Given the description of an element on the screen output the (x, y) to click on. 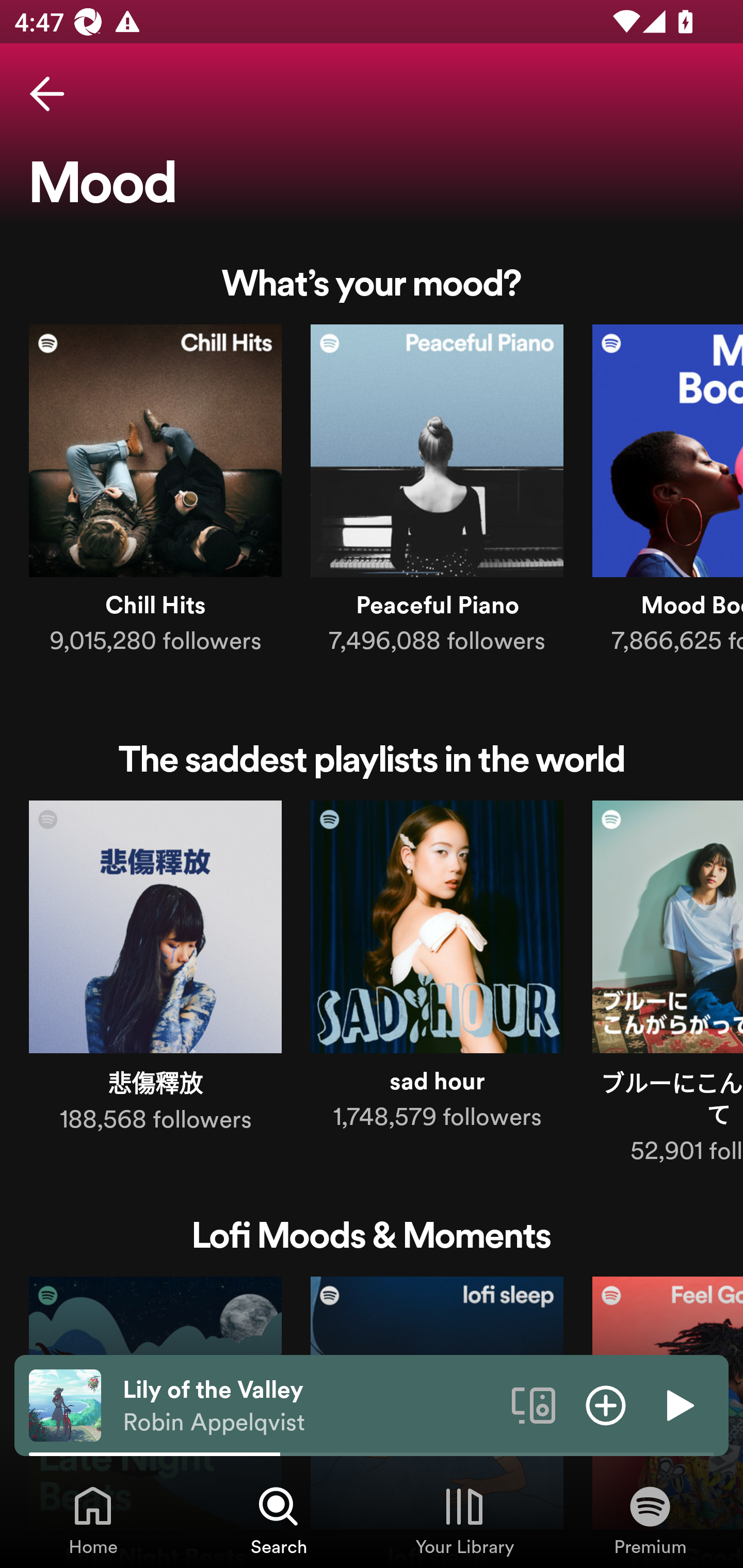
Back (46, 93)
悲傷釋放
188,568 followers 悲傷釋放 188,568 followers (154, 971)
Lily of the Valley Robin Appelqvist (309, 1405)
The cover art of the currently playing track (64, 1404)
Connect to a device. Opens the devices menu (533, 1404)
Add item (605, 1404)
Play (677, 1404)
Home, Tab 1 of 4 Home Home (92, 1519)
Search, Tab 2 of 4 Search Search (278, 1519)
Your Library, Tab 3 of 4 Your Library Your Library (464, 1519)
Premium, Tab 4 of 4 Premium Premium (650, 1519)
